Given the description of an element on the screen output the (x, y) to click on. 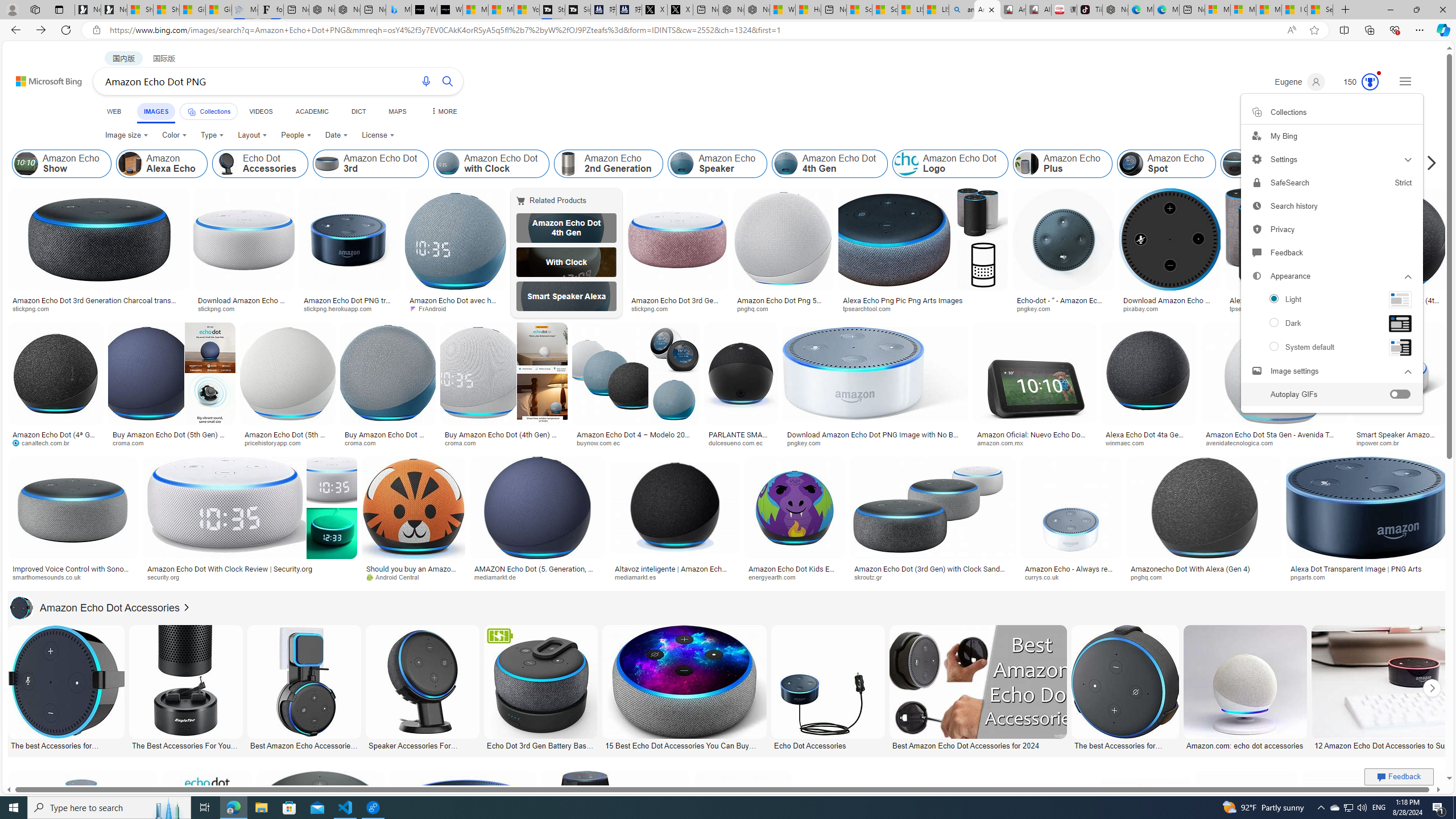
Amazon Echo 2nd Generation (608, 163)
With Clock (565, 261)
Date (336, 135)
Dark (1331, 323)
Forward (40, 29)
Class: rdio-icon (1273, 345)
canaltech.com.br (56, 442)
Class: rms_img (1400, 347)
